Given the description of an element on the screen output the (x, y) to click on. 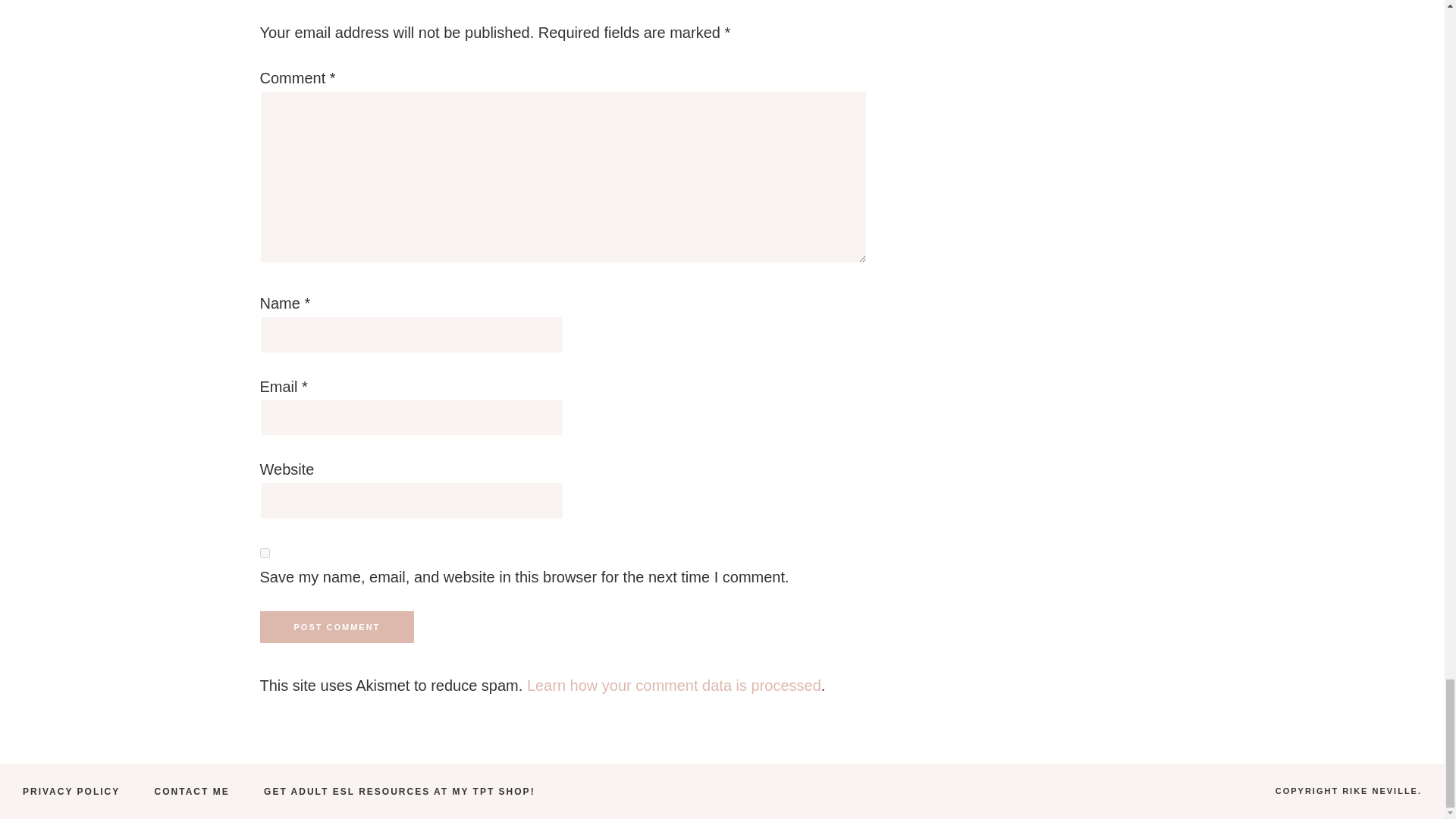
Post Comment (336, 626)
yes (264, 552)
